Given the description of an element on the screen output the (x, y) to click on. 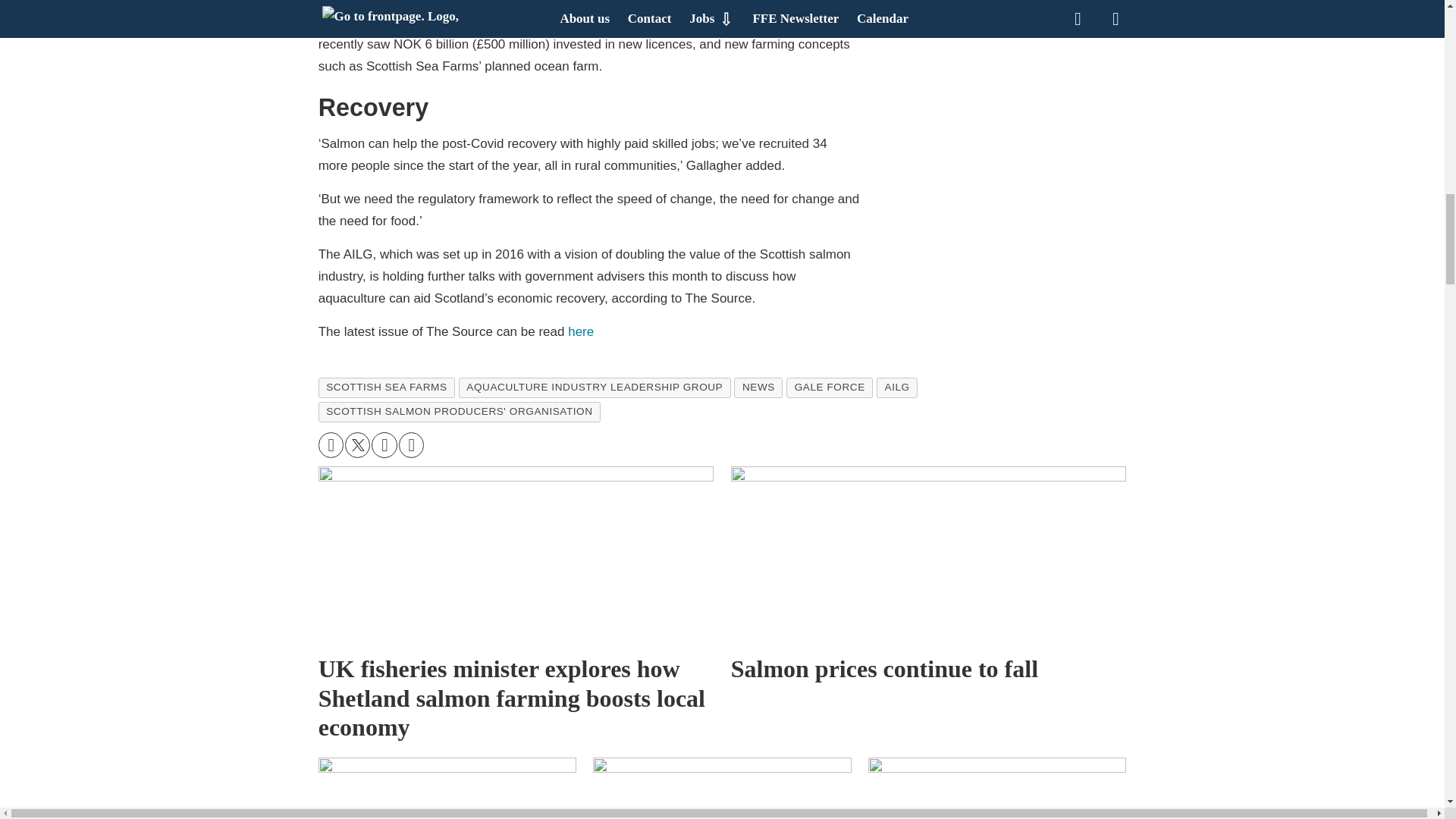
AQUACULTURE INDUSTRY LEADERSHIP GROUP (594, 387)
AILG (896, 387)
NEWS (758, 387)
SCOTTISH SALMON PRODUCERS' ORGANISATION (458, 411)
SCOTTISH SEA FARMS (386, 387)
GALE FORCE (829, 387)
here (580, 331)
Salmon prices continue to fall (928, 555)
